Given the description of an element on the screen output the (x, y) to click on. 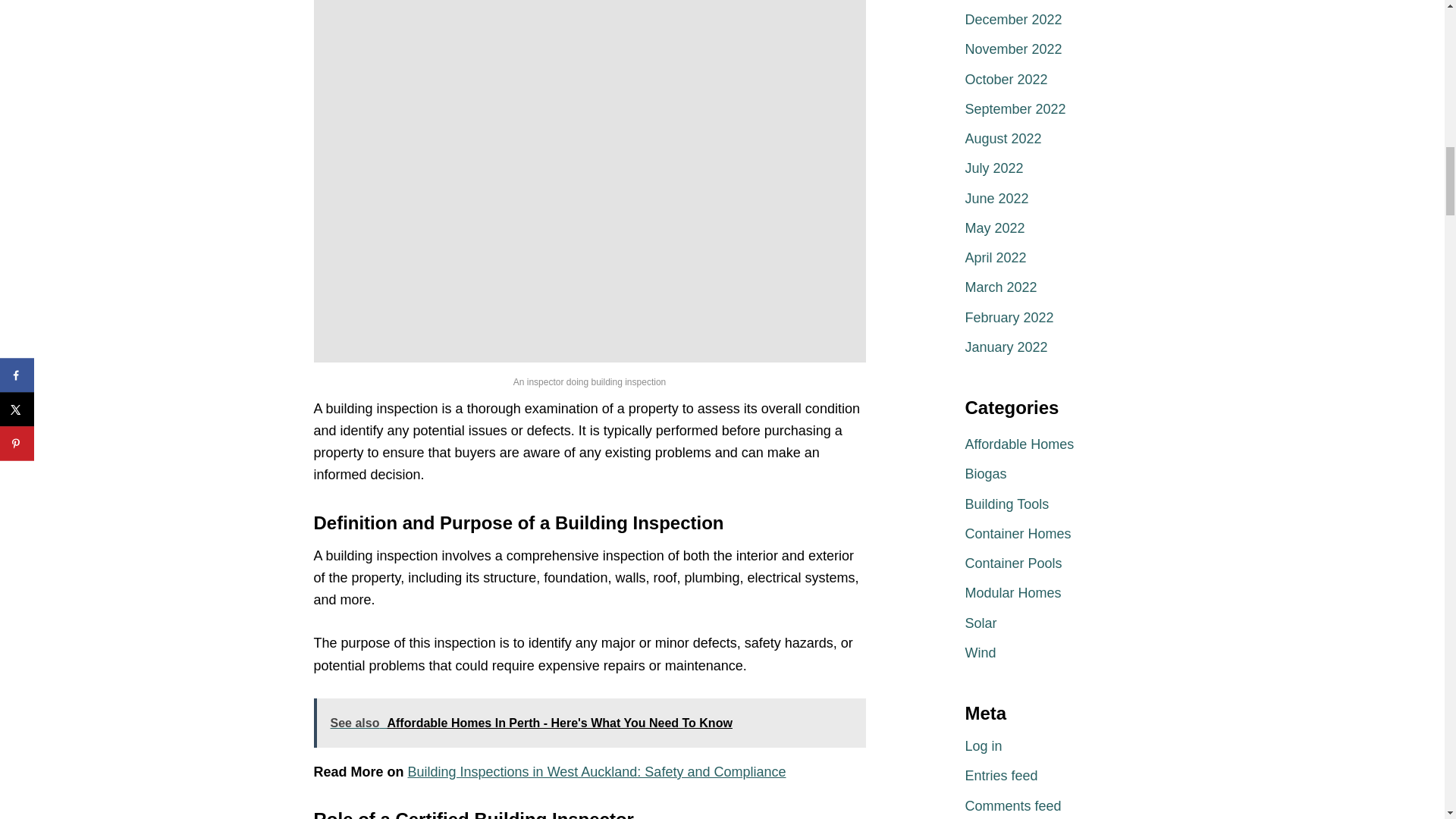
Building Inspections in West Auckland: Safety and Compliance (596, 771)
